Given the description of an element on the screen output the (x, y) to click on. 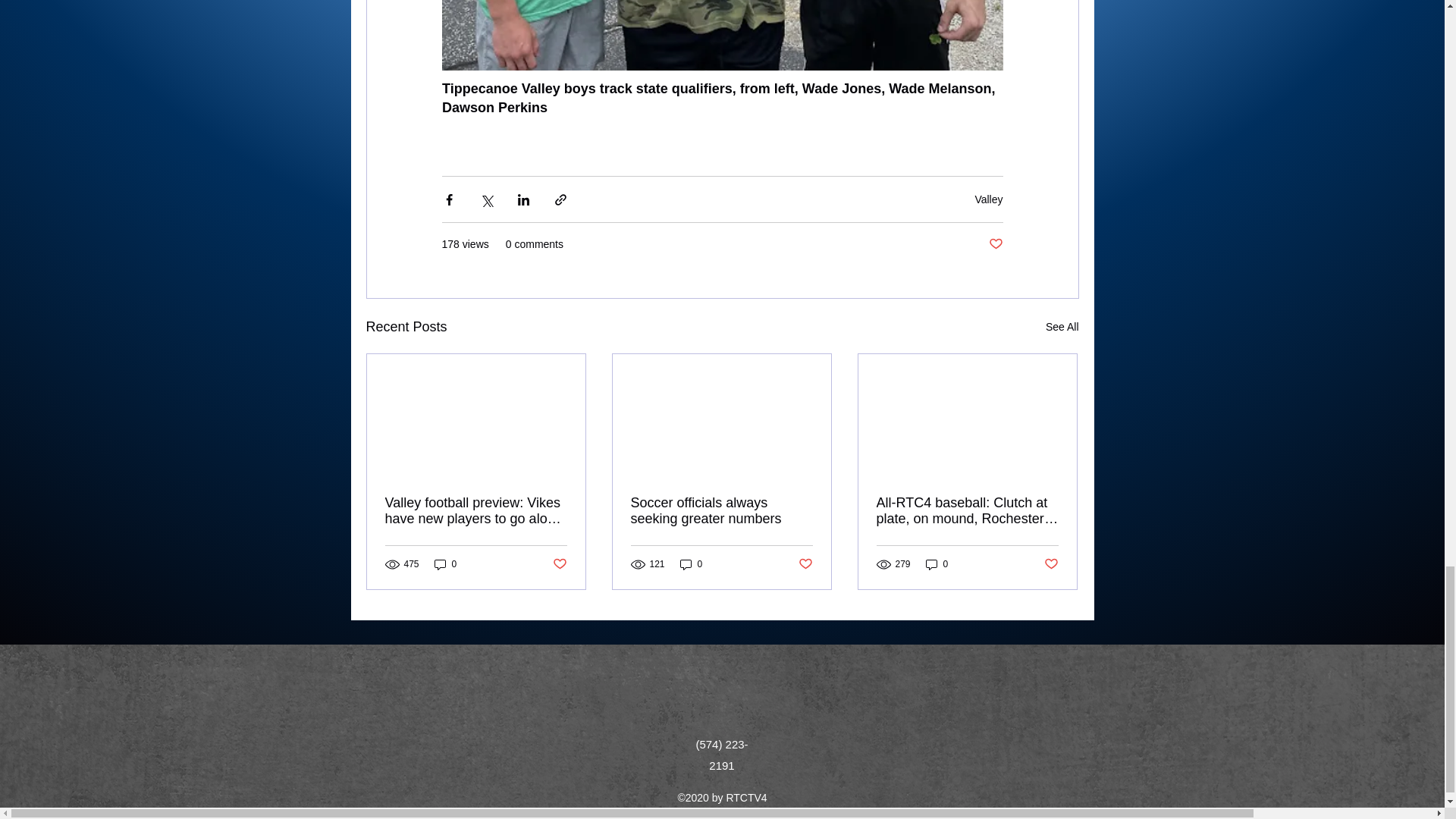
Post not marked as liked (558, 564)
Post not marked as liked (995, 244)
0 (445, 564)
Post not marked as liked (1050, 564)
Post not marked as liked (804, 564)
Soccer officials always seeking greater numbers (721, 511)
See All (1061, 327)
0 (691, 564)
0 (937, 564)
